Given the description of an element on the screen output the (x, y) to click on. 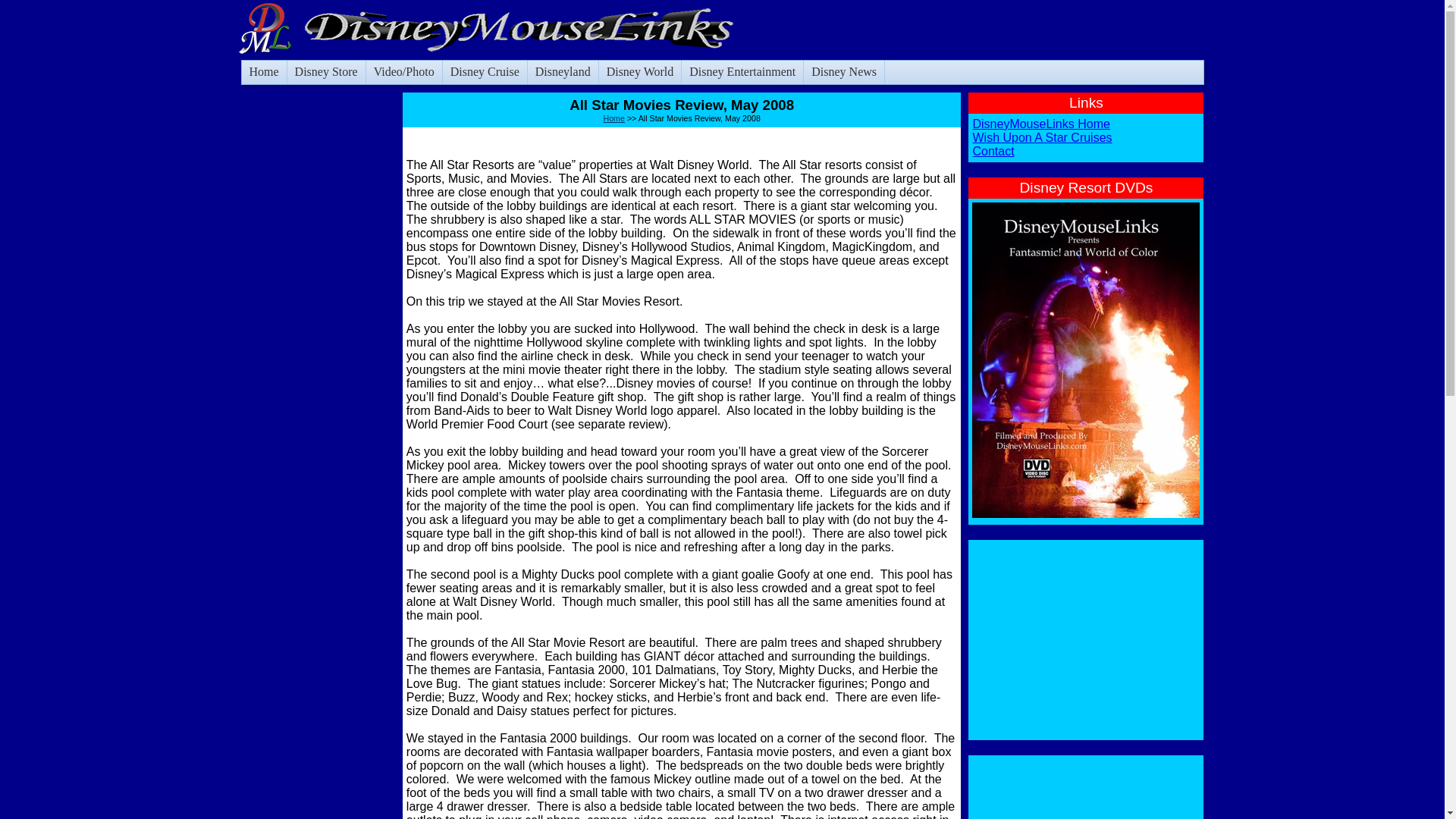
Disney Store (325, 72)
Home (614, 117)
Home (263, 72)
Advertisement (1085, 789)
